Given the description of an element on the screen output the (x, y) to click on. 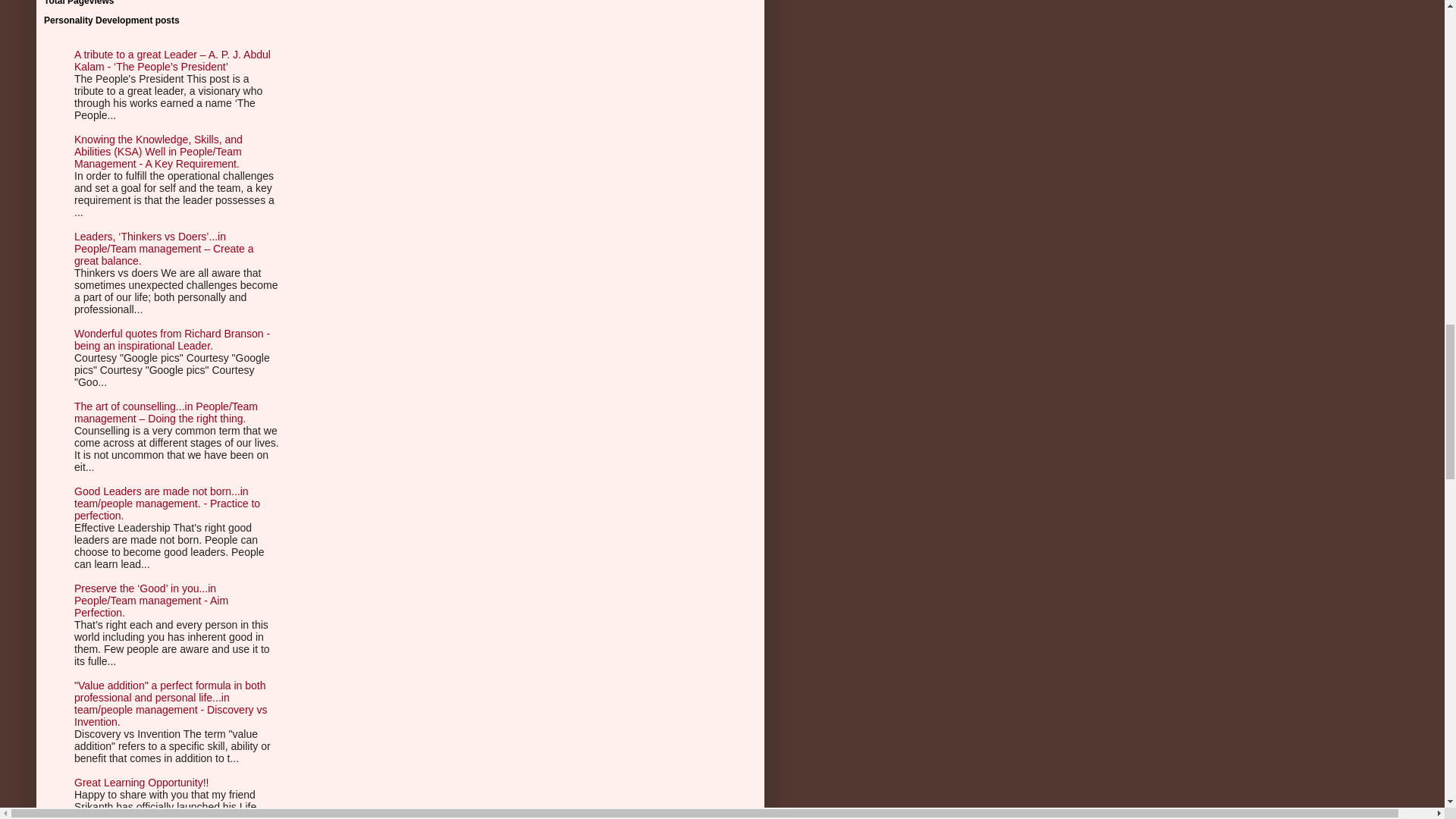
Great Learning Opportunity!! (141, 782)
